Given the description of an element on the screen output the (x, y) to click on. 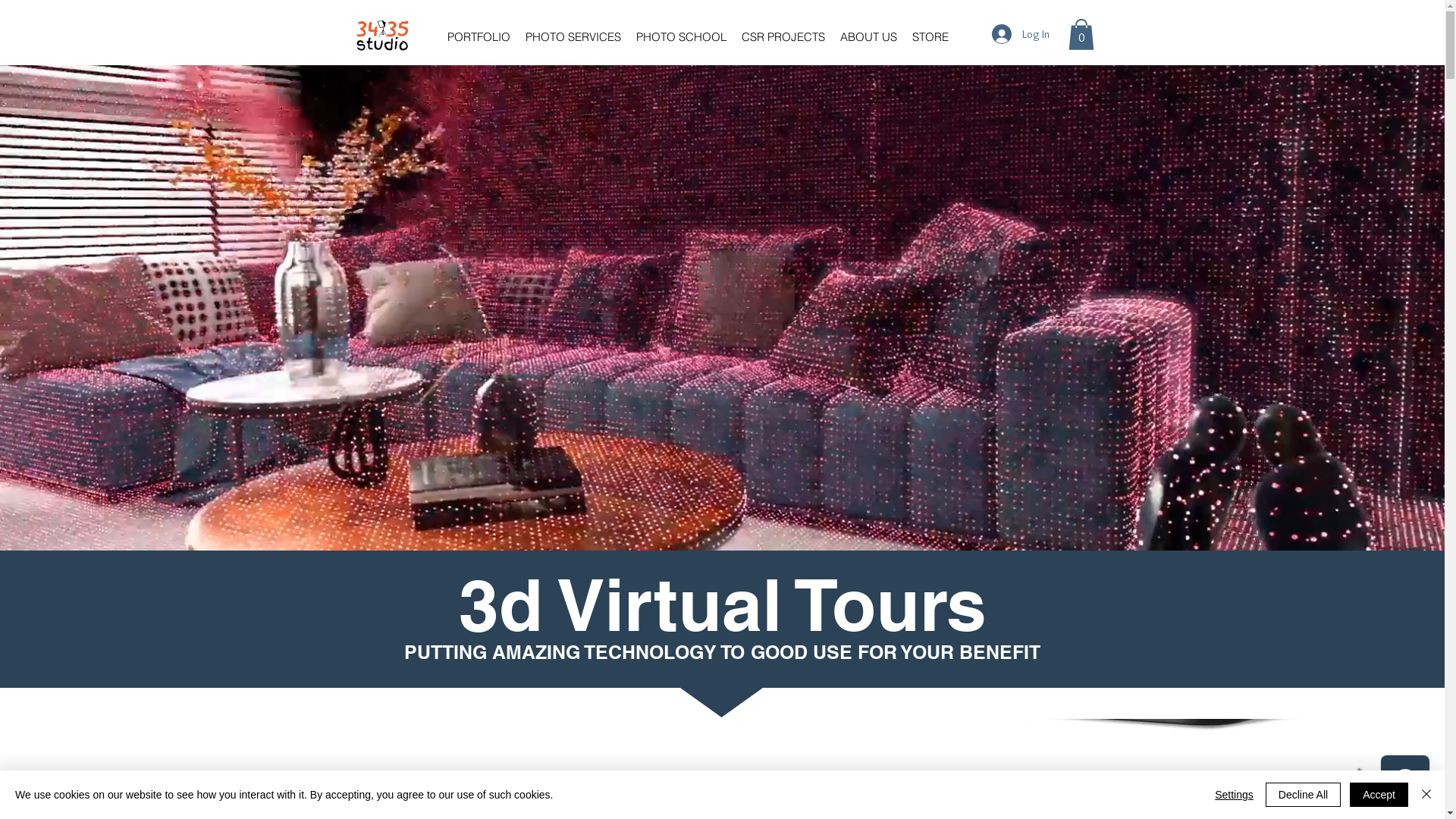
PHOTO SCHOOL Element type: text (680, 36)
Accept Element type: text (1378, 794)
34 35 studio Home Page Element type: hover (382, 36)
Log In Element type: text (1020, 33)
Decline All Element type: text (1302, 794)
0 Element type: text (1080, 34)
ABOUT US Element type: text (868, 36)
STORE Element type: text (929, 36)
CSR PROJECTS Element type: text (783, 36)
